Given the description of an element on the screen output the (x, y) to click on. 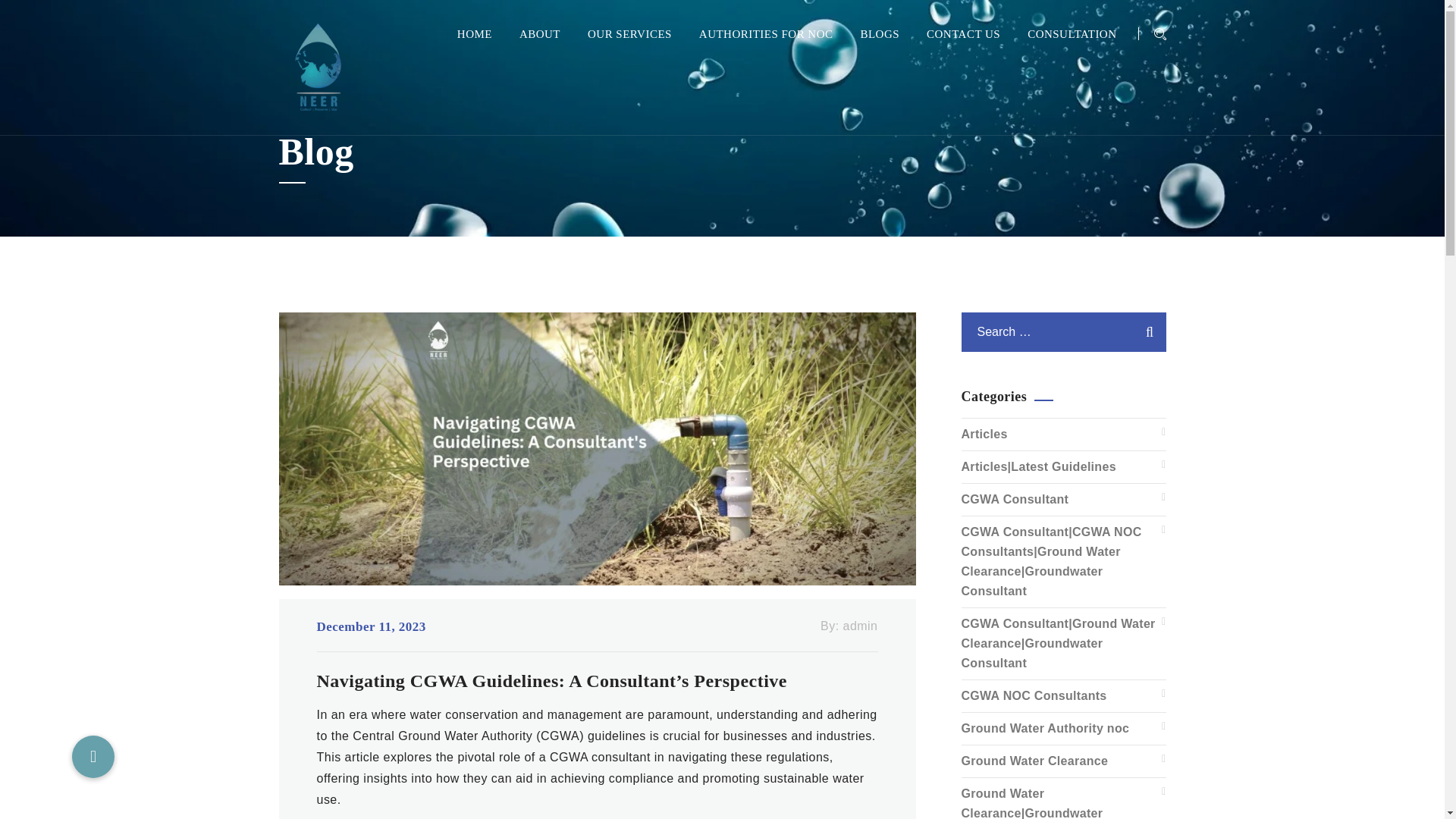
AUTHORITIES FOR NOC (765, 33)
OUR SERVICES (629, 33)
OUR SERVICES (629, 33)
ABOUT (539, 33)
BLOGS (879, 33)
Save Water to Save Life (328, 67)
CONSULTATION (1071, 33)
AUTHORITIES FOR NOC (765, 33)
ABOUT (539, 33)
HOME (474, 33)
Search (1146, 331)
CONTACT US (963, 33)
HOME (474, 33)
